Given the description of an element on the screen output the (x, y) to click on. 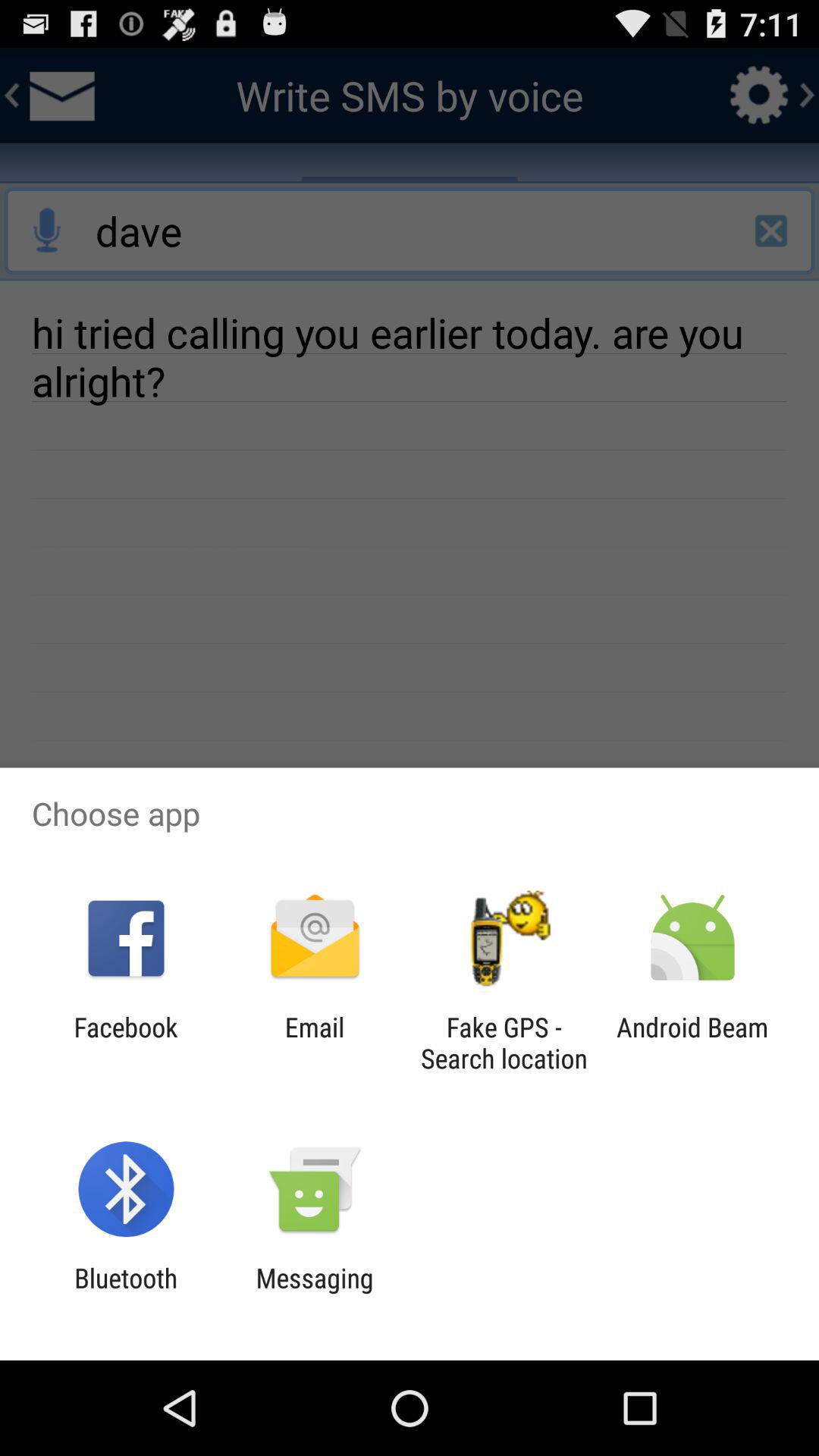
press app next to the email app (125, 1042)
